Given the description of an element on the screen output the (x, y) to click on. 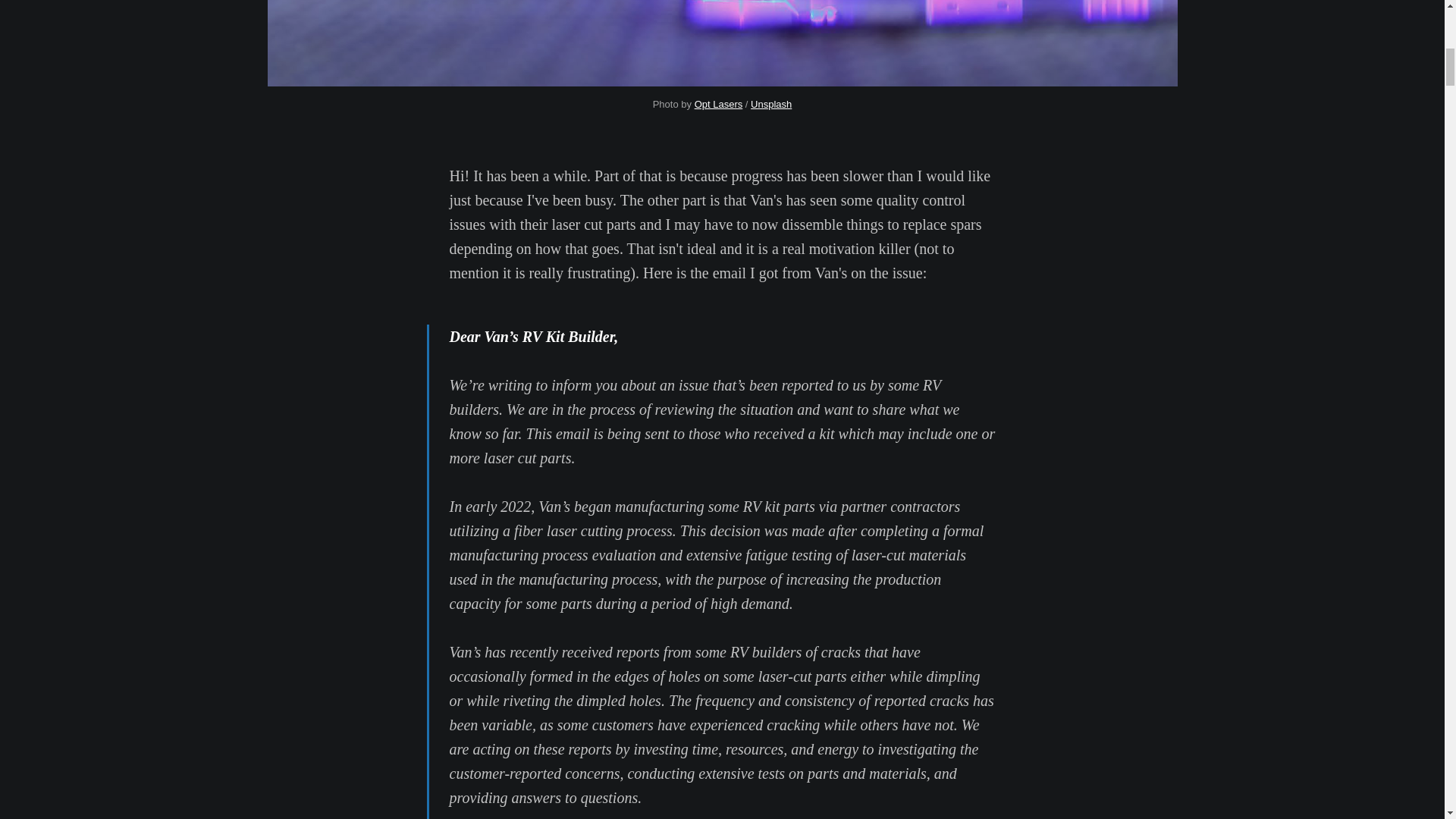
Unsplash (771, 103)
Opt Lasers (718, 103)
